Given the description of an element on the screen output the (x, y) to click on. 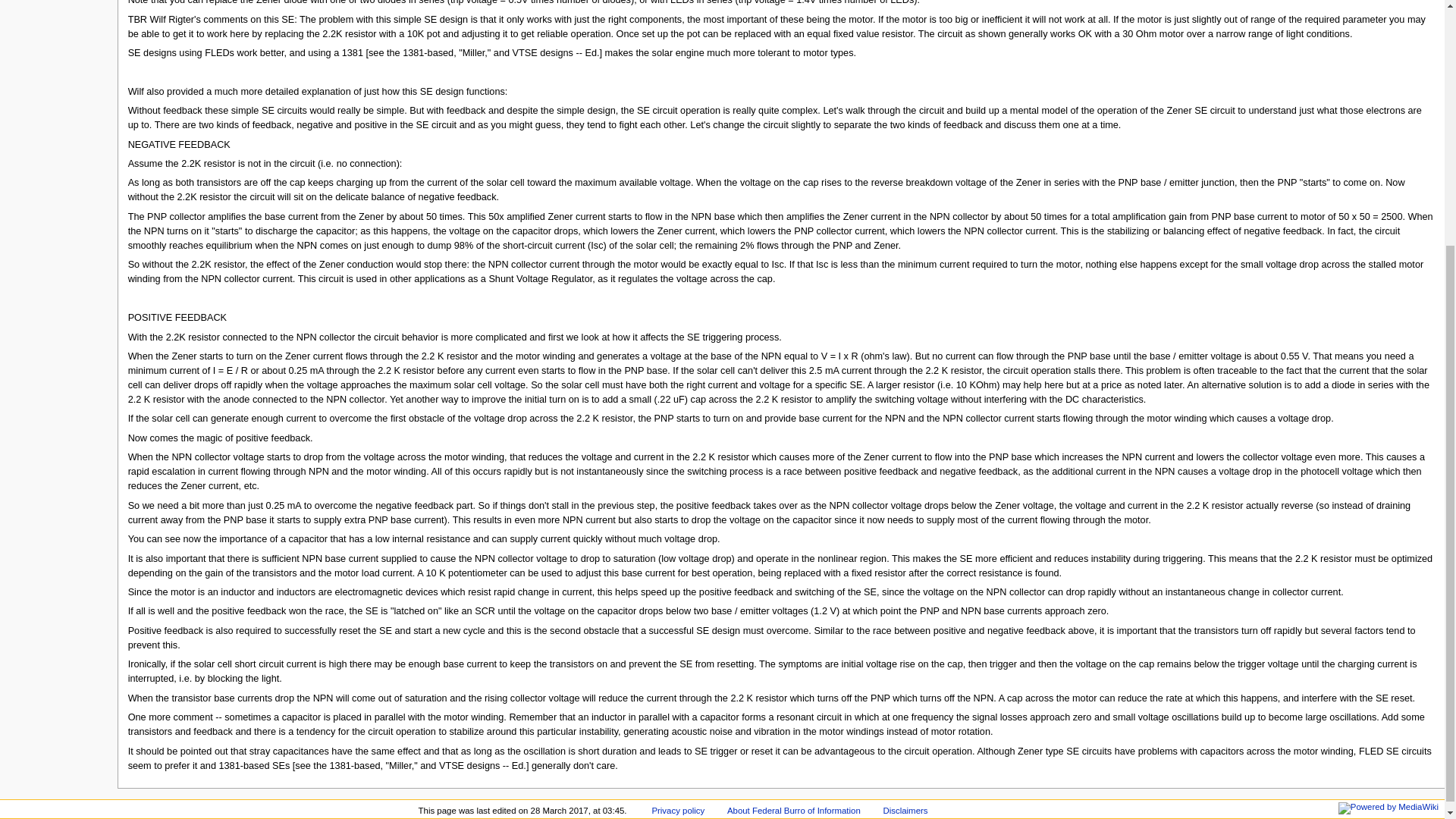
Privacy policy (677, 809)
About Federal Burro of Information (793, 809)
Disclaimers (904, 809)
